Given the description of an element on the screen output the (x, y) to click on. 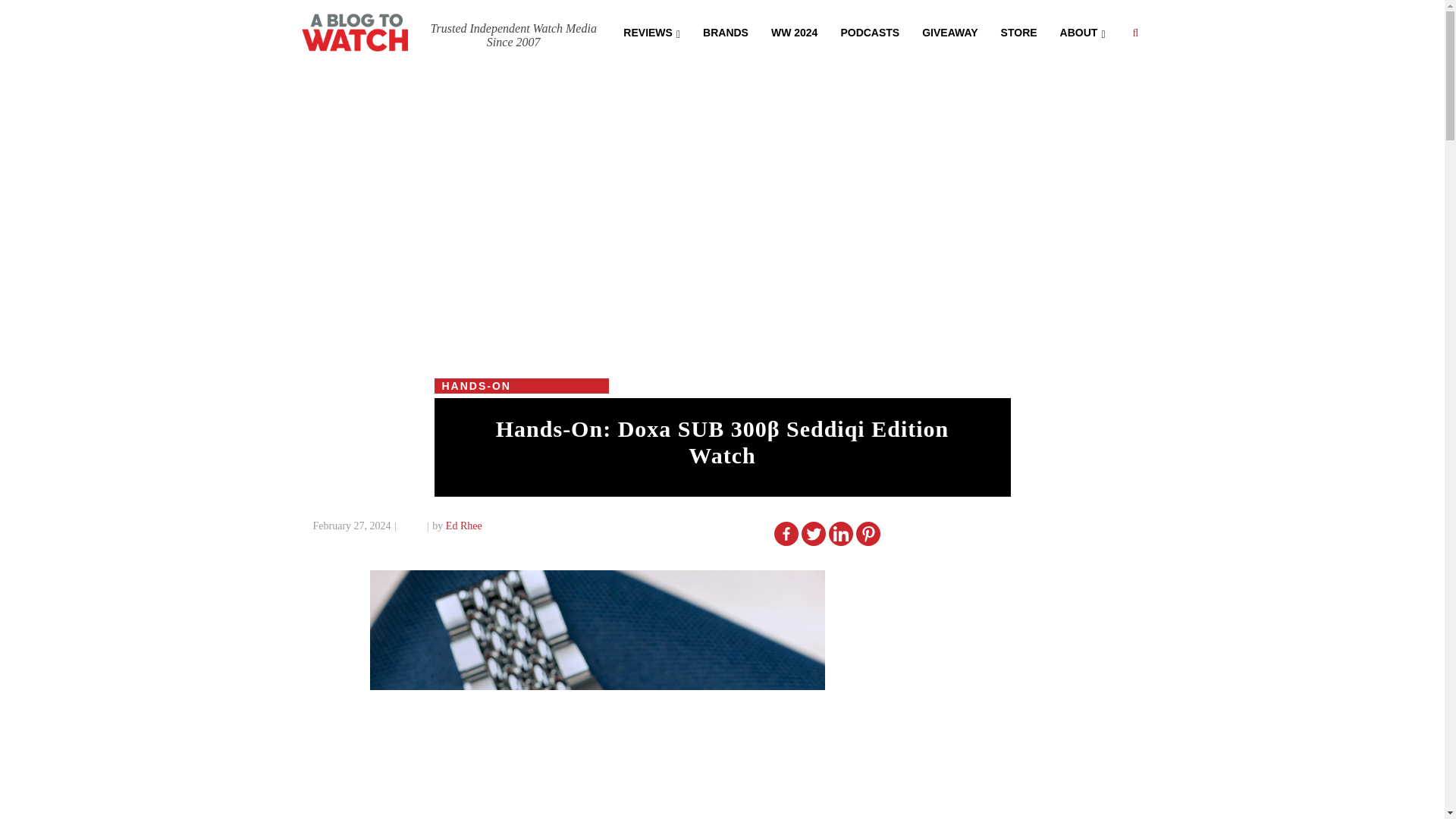
Twitter (812, 533)
GIVEAWAY (949, 31)
STORE (1019, 31)
Pinterest (867, 533)
Linkedin (839, 533)
PODCASTS (869, 31)
Wrist Time Watch Reviews (651, 31)
BRANDS (725, 31)
ABOUT (1082, 31)
WW 2024 (794, 31)
REVIEWS (651, 31)
Facebook (785, 533)
Guides to help you when buying watches (794, 31)
